Given the description of an element on the screen output the (x, y) to click on. 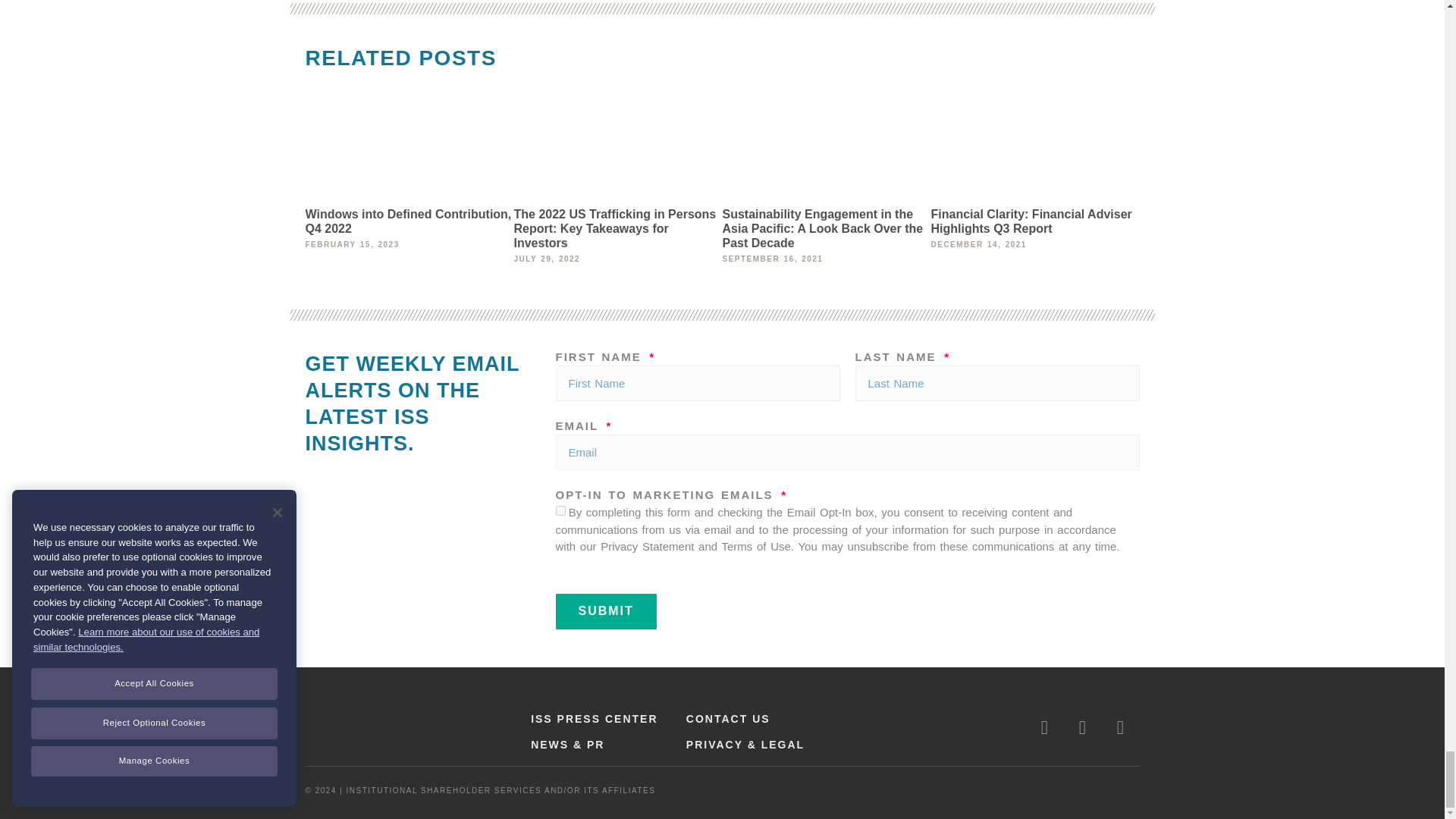
on (559, 510)
